Given the description of an element on the screen output the (x, y) to click on. 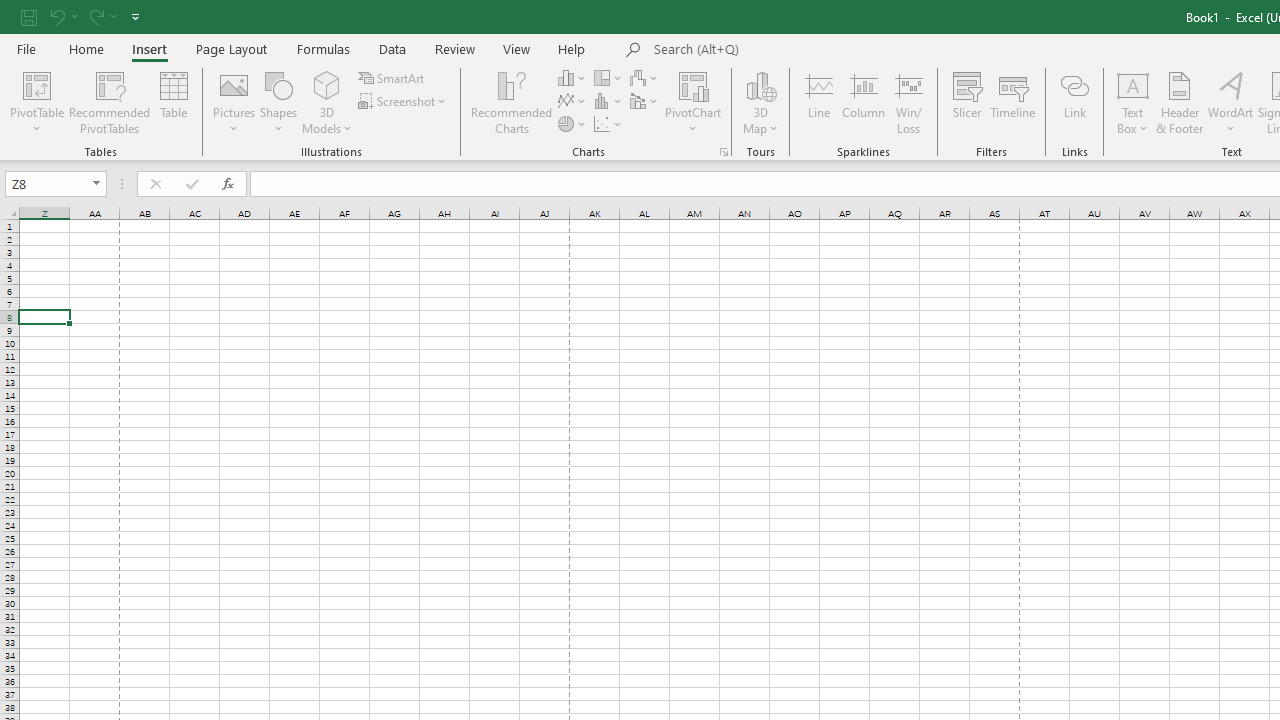
Recommended Charts (723, 151)
Link (1074, 102)
Screenshot (403, 101)
Insert Scatter (X, Y) or Bubble Chart (609, 124)
Insert Hierarchy Chart (609, 78)
Insert Combo Chart (645, 101)
Insert Line or Area Chart (573, 101)
